Given the description of an element on the screen output the (x, y) to click on. 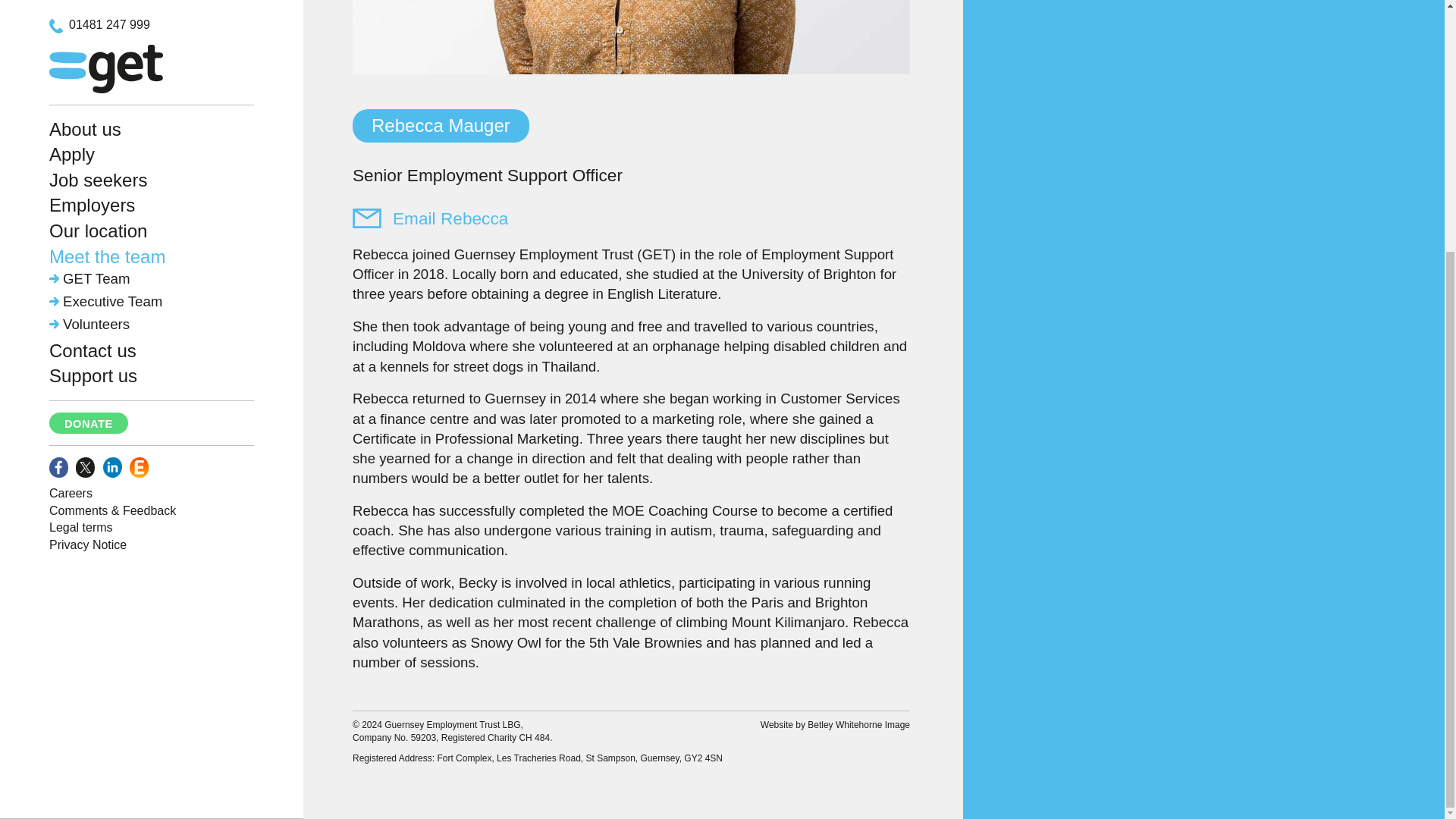
DONATE (88, 69)
Support us (92, 21)
Legal terms (81, 173)
Contact us (92, 3)
Email Rebecca (430, 218)
Privacy Notice (87, 190)
Careers (71, 138)
